Given the description of an element on the screen output the (x, y) to click on. 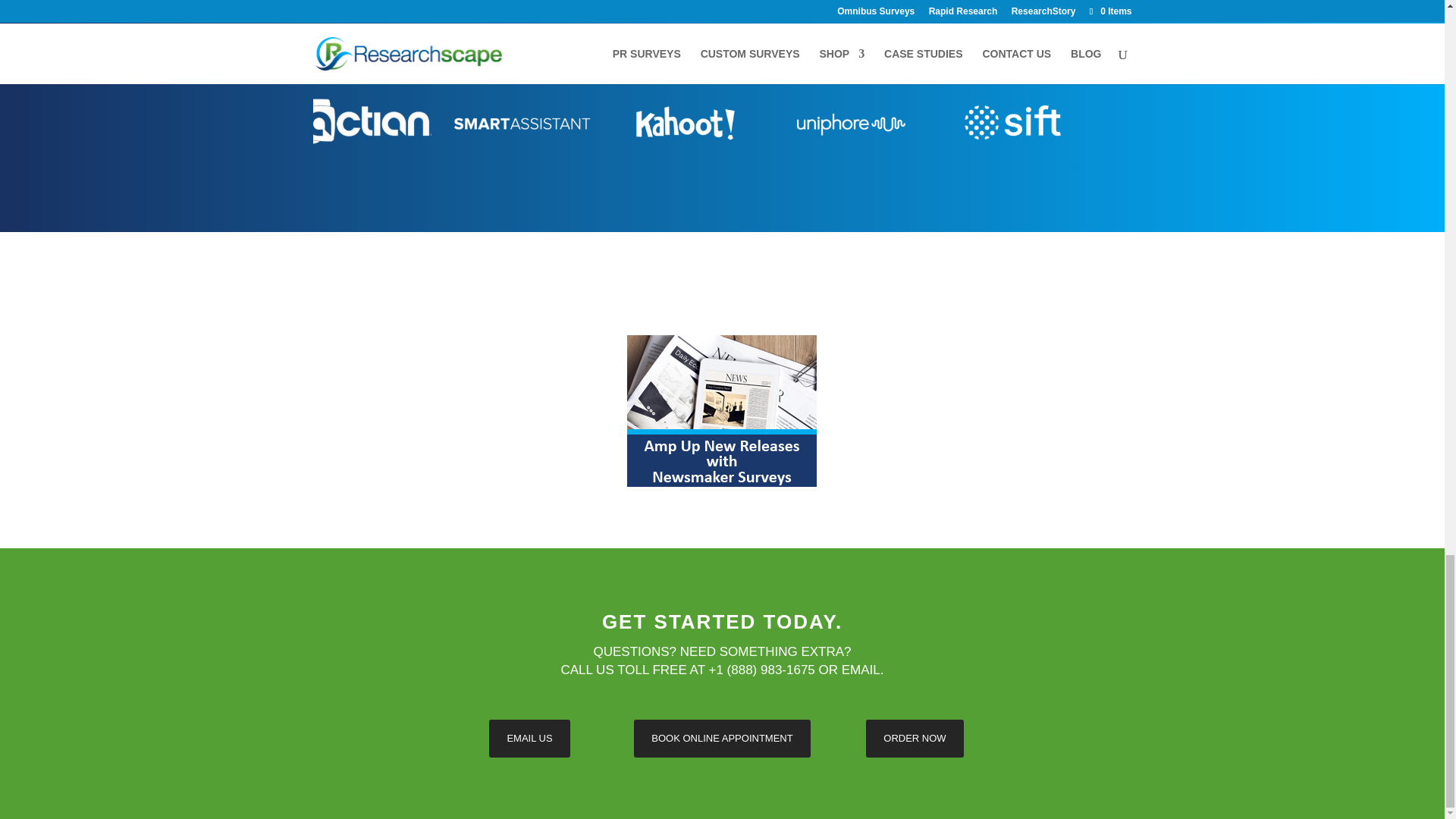
kahootwhite (684, 123)
